Given the description of an element on the screen output the (x, y) to click on. 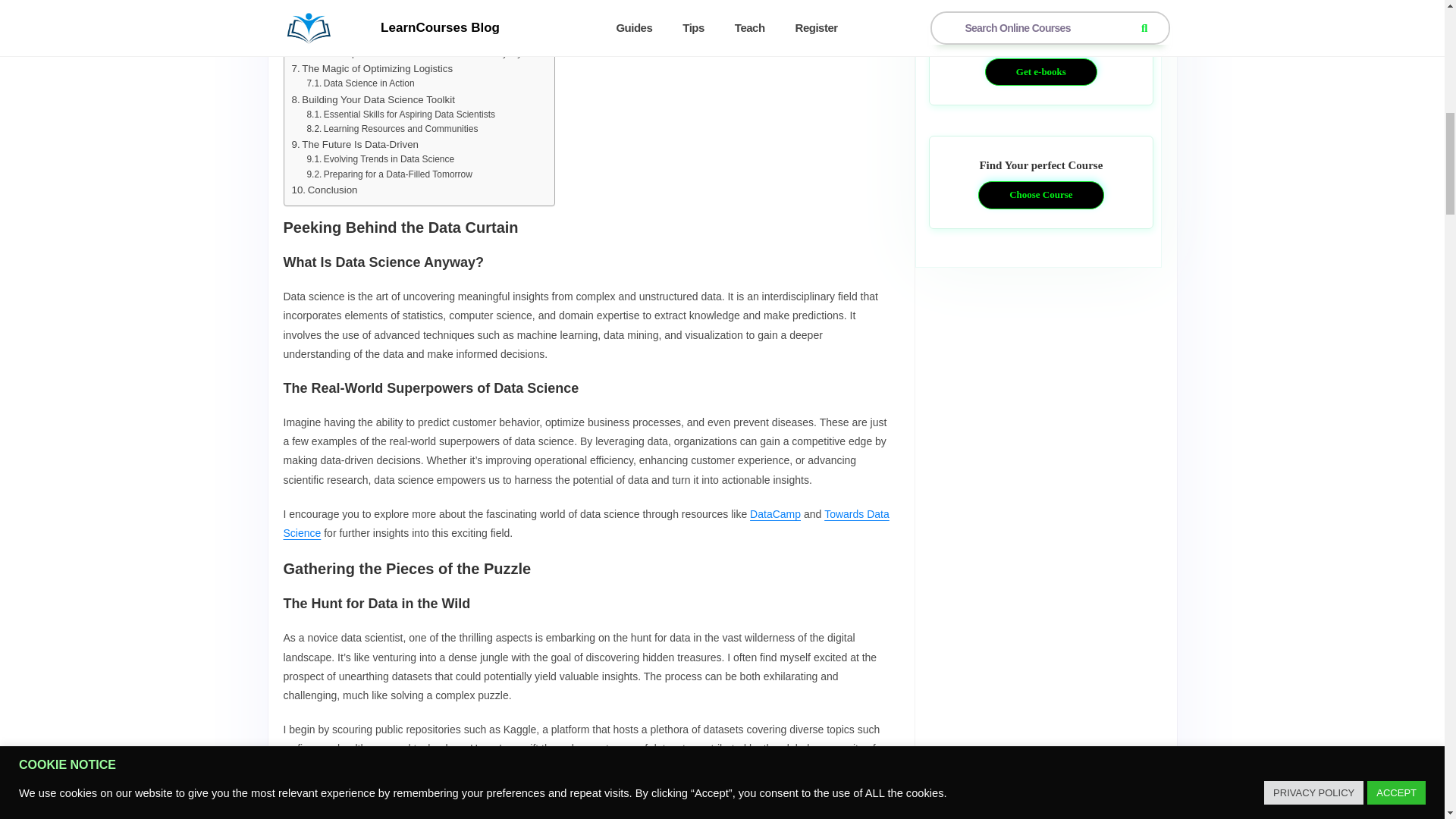
The Impact of Data-Driven Decisions in Everyday Life (421, 52)
Building Your Data Science Toolkit (372, 99)
How Data Helps Us Make Better Decisions (400, 38)
Making Smart Choices with Data (369, 23)
Essential Skills for Aspiring Data Scientists (400, 114)
The Magic of Optimizing Logistics (371, 68)
Real-Life Spells (346, 8)
Data Science in Action (359, 83)
